Given the description of an element on the screen output the (x, y) to click on. 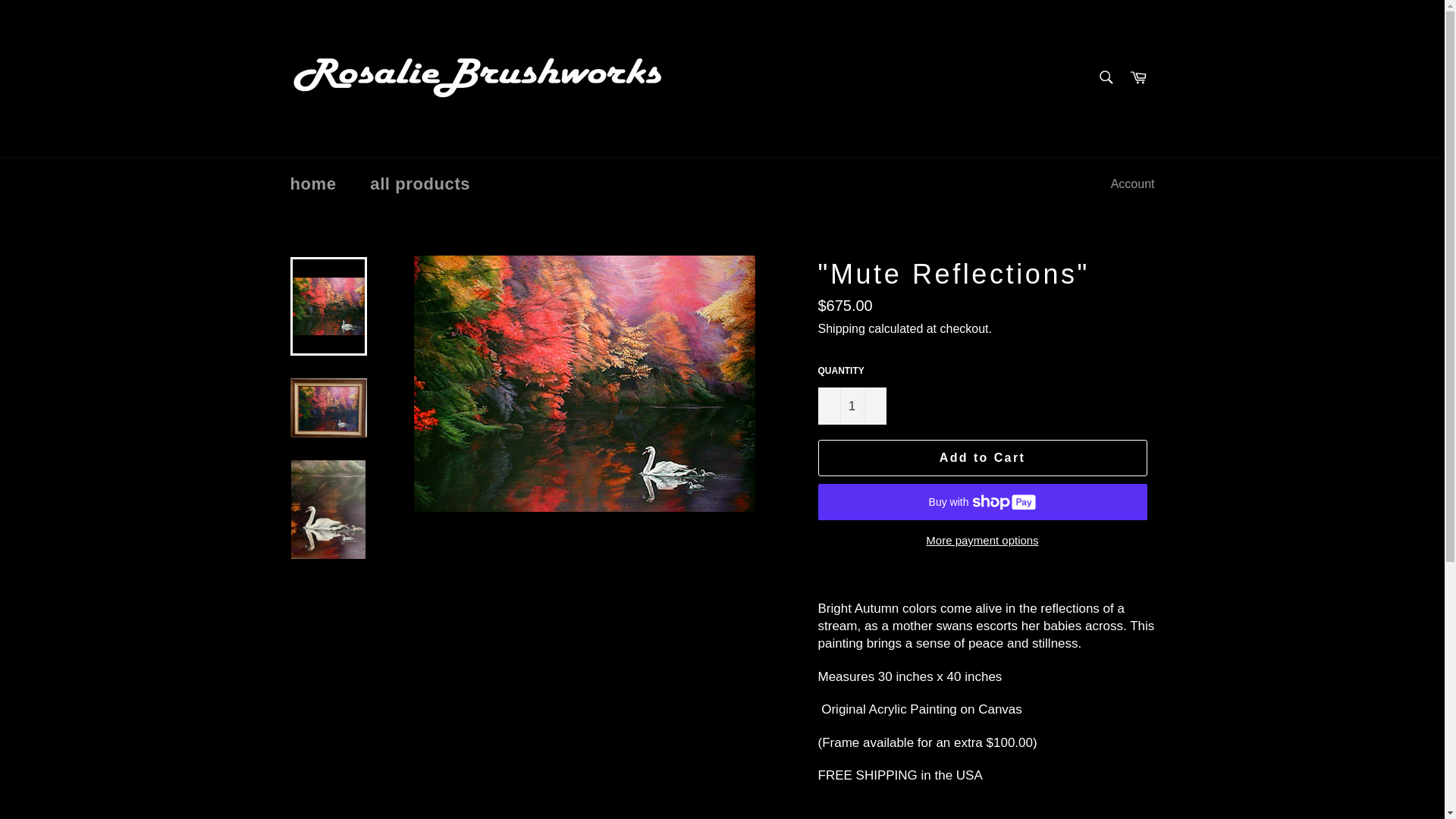
home (312, 184)
all products (419, 184)
Account (1132, 184)
Search (1104, 77)
Add to Cart (981, 457)
Cart (1138, 78)
1 (850, 406)
Shipping (840, 328)
More payment options (981, 540)
